Given the description of an element on the screen output the (x, y) to click on. 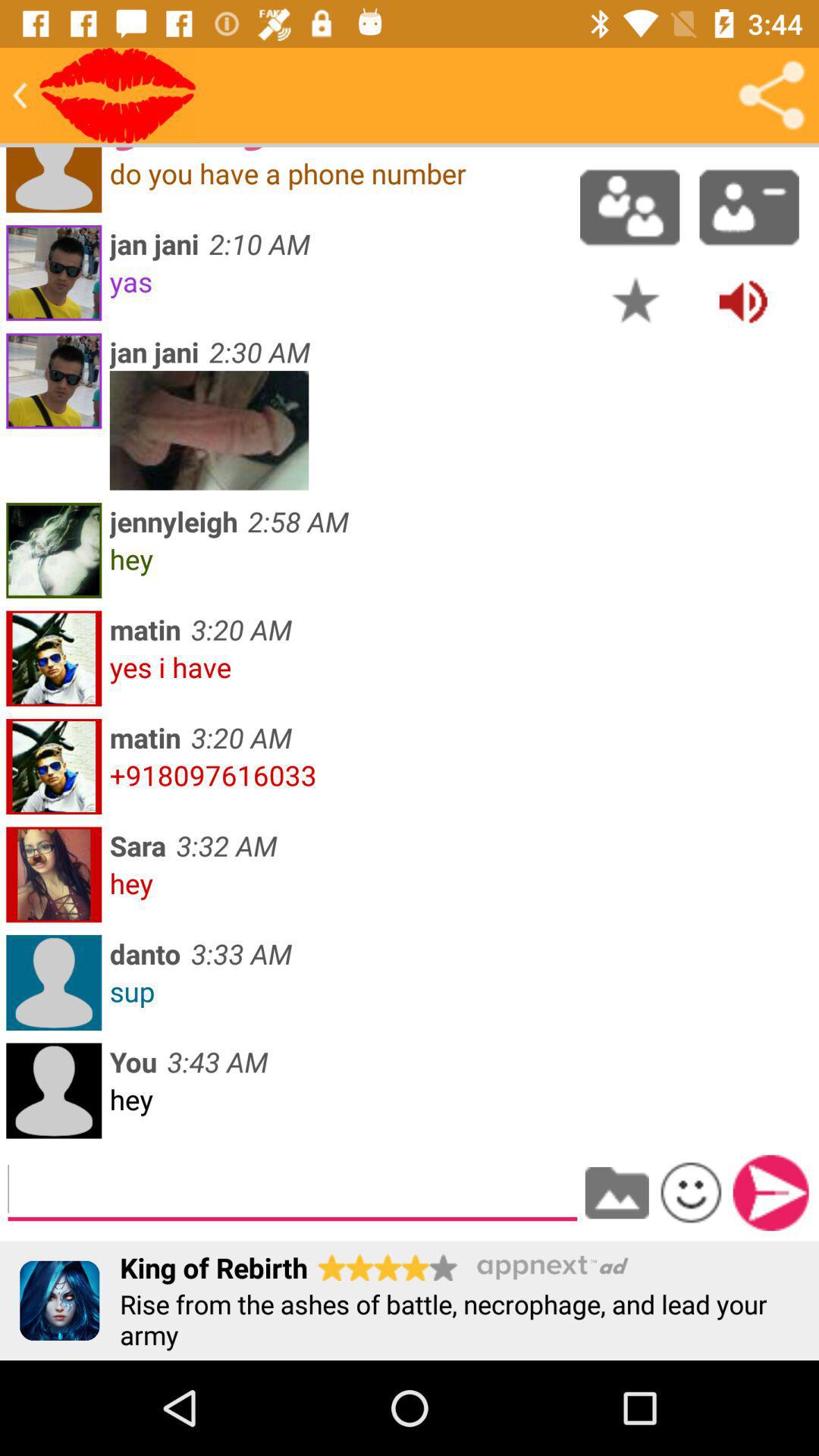
favorites the selected post (635, 300)
